Given the description of an element on the screen output the (x, y) to click on. 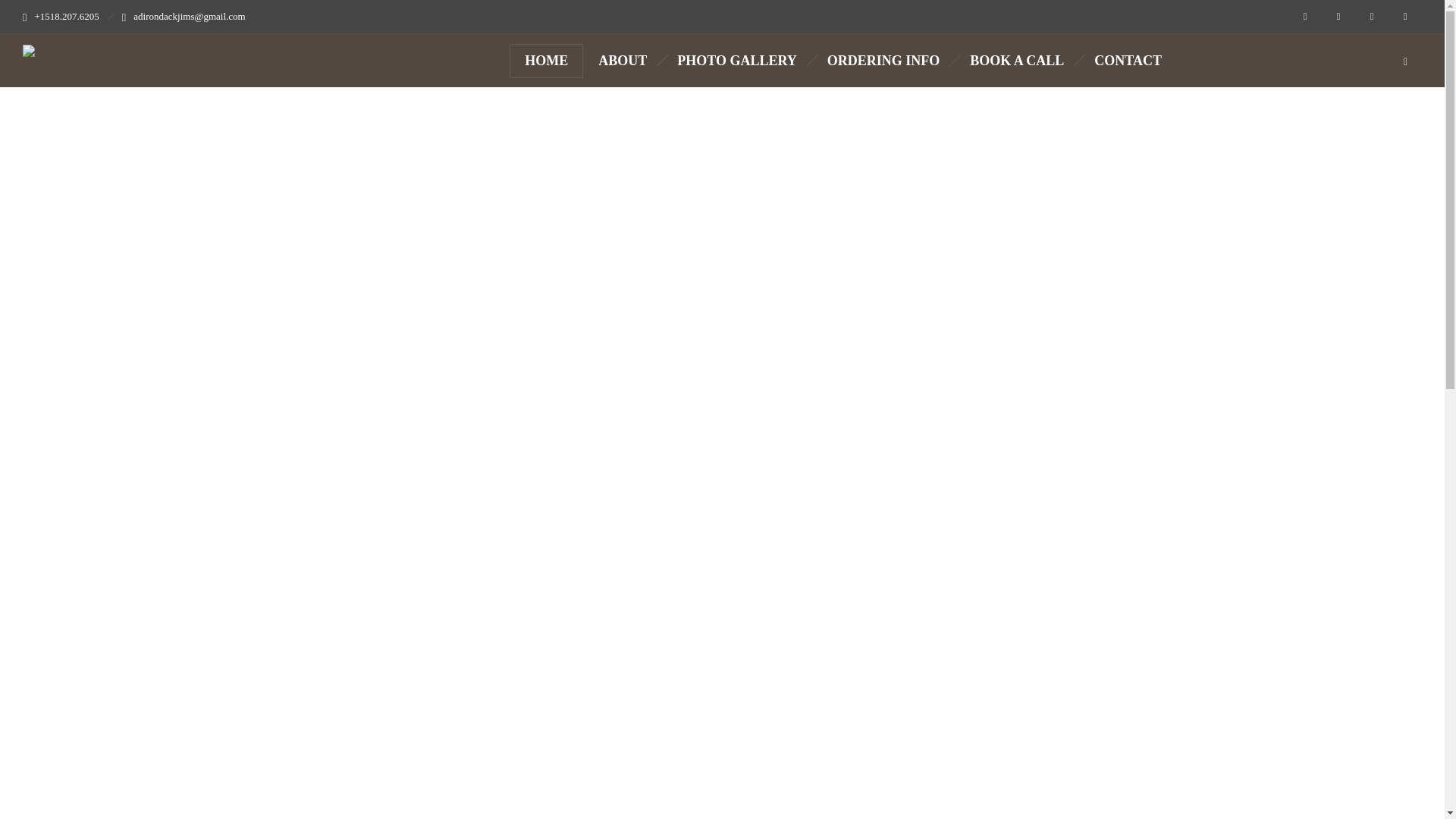
PHOTO GALLERY (737, 60)
ORDERING INFO (883, 60)
Instagram (1338, 16)
Facebook (1305, 16)
HOME (546, 60)
Pinterest (1372, 16)
CONTACT (1127, 60)
ABOUT (622, 60)
YouTube (1405, 16)
BOOK A CALL (1016, 60)
